Given the description of an element on the screen output the (x, y) to click on. 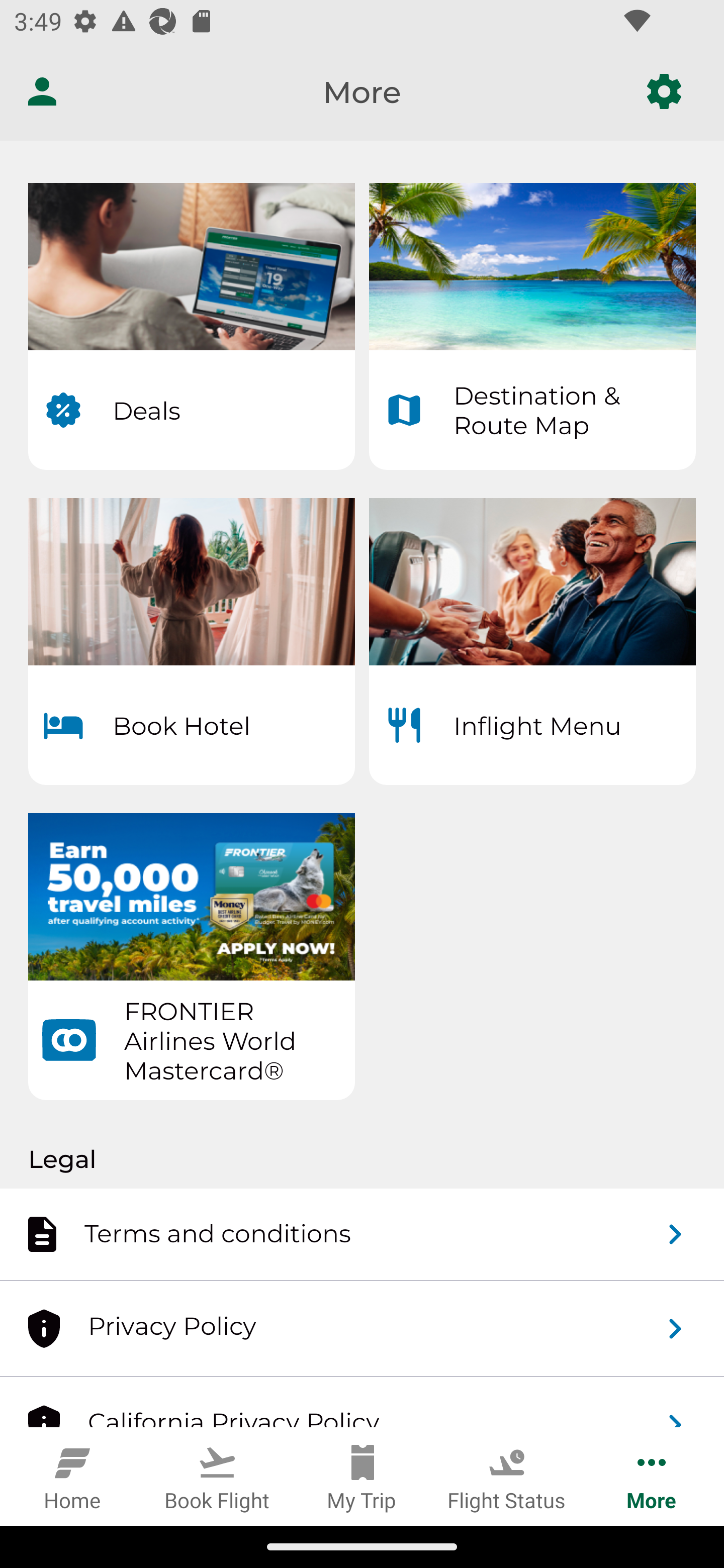
Deals (191, 326)
Destination &
Route Map (532, 326)
Book Hotel (191, 641)
Inflight Menu (532, 641)
FRONTIER Airlines World Mastercard® (191, 956)
Terms and conditions (362, 1233)
Privacy Policy (362, 1328)
Home (72, 1475)
Book Flight (216, 1475)
My Trip (361, 1475)
Flight Status (506, 1475)
